Given the description of an element on the screen output the (x, y) to click on. 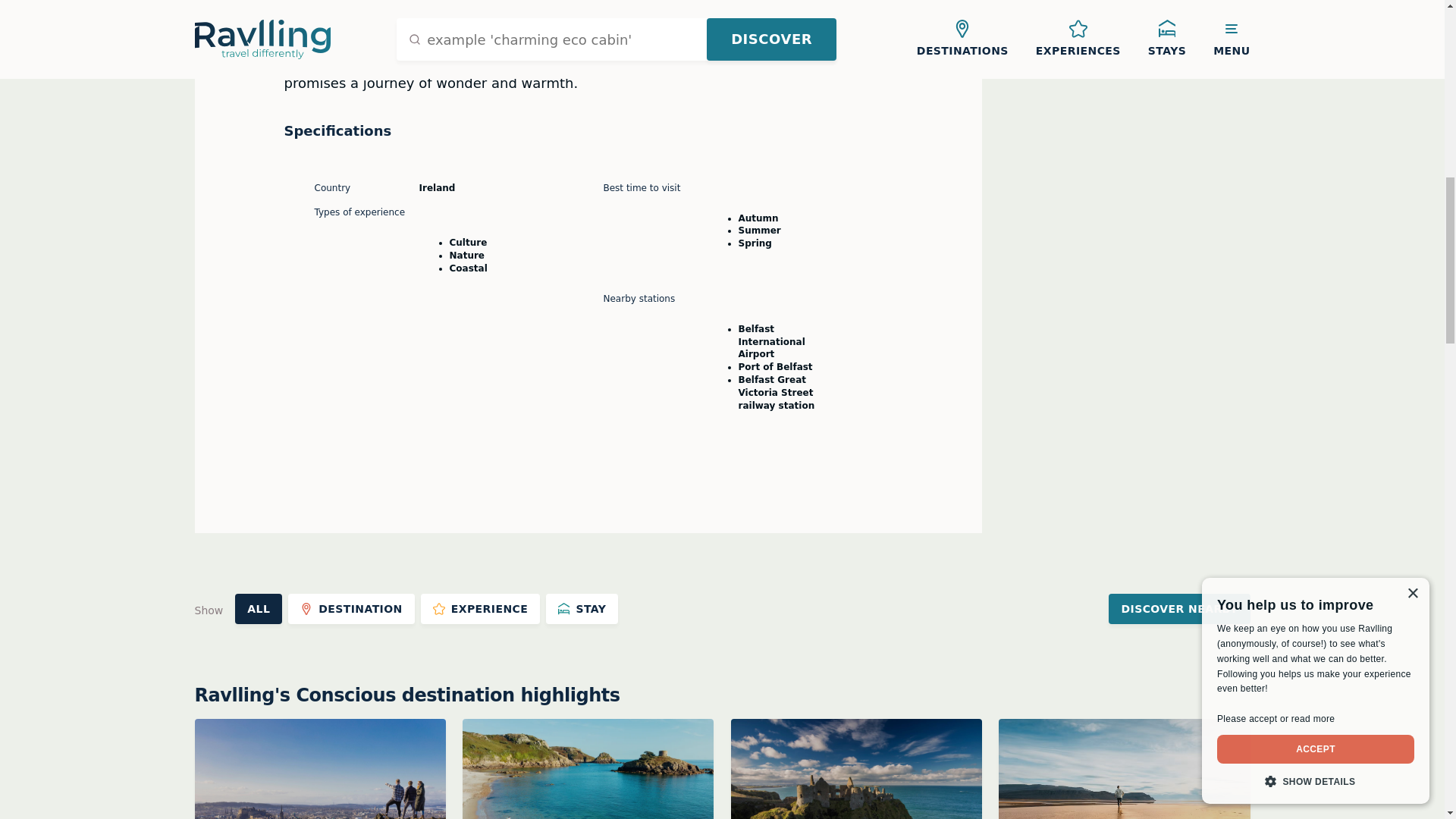
STAY (1123, 769)
Far, far away from the crowds (581, 608)
Discover the sheer beauty of Northern Ireland (1123, 769)
ALL (855, 769)
Sightseeing in the cobbled roads of Edinburgh (258, 608)
DESTINATION (319, 769)
Restoring your energy in Jersey (351, 608)
EXPERIENCE (588, 769)
DISCOVER NEARBY (480, 608)
